Given the description of an element on the screen output the (x, y) to click on. 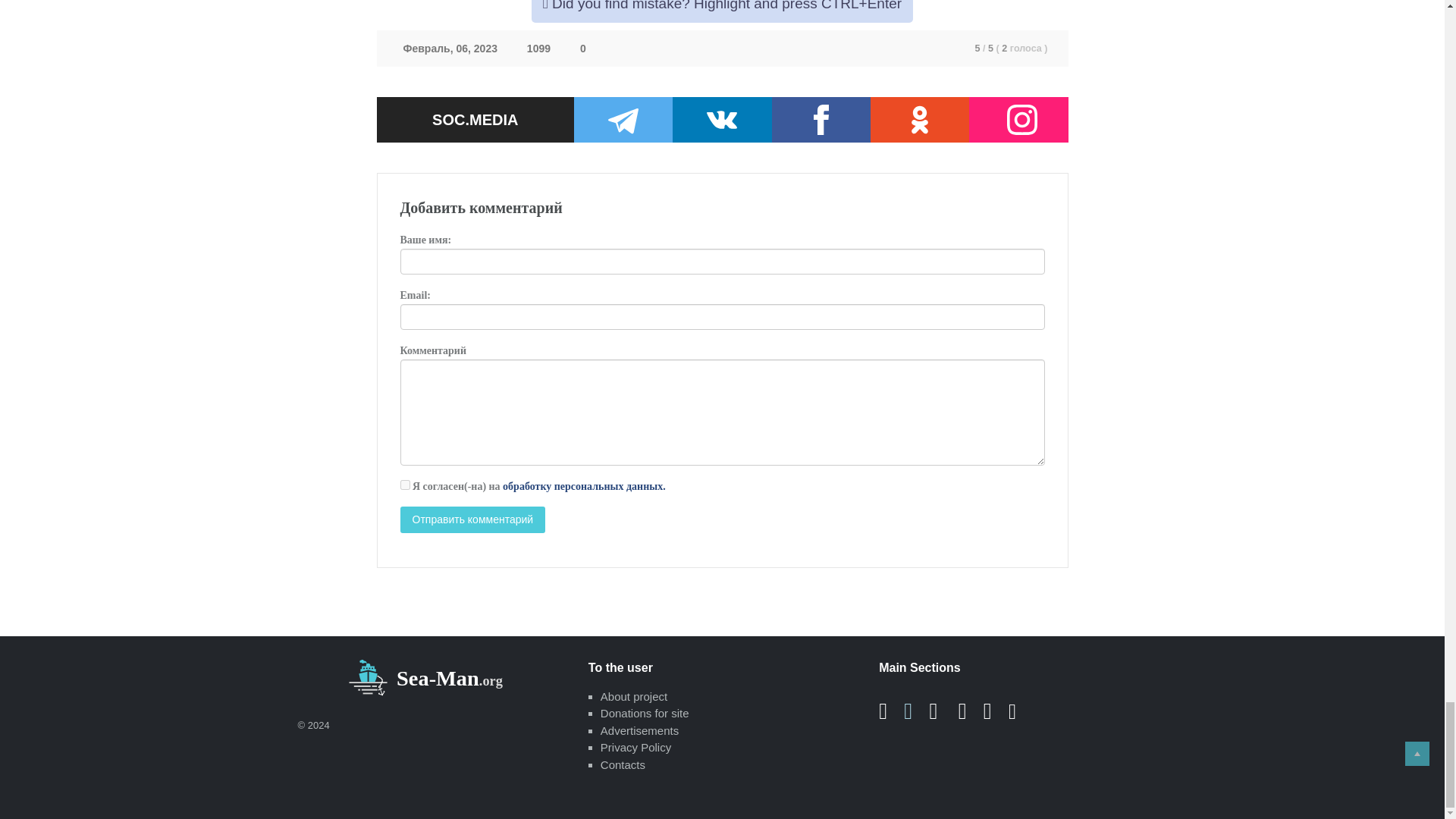
Group in OK (919, 119)
Channel in Telegram (622, 119)
on (405, 484)
Group in Facebook (820, 119)
Vkontakte Group (721, 119)
We in Instagram (1021, 119)
